Given the description of an element on the screen output the (x, y) to click on. 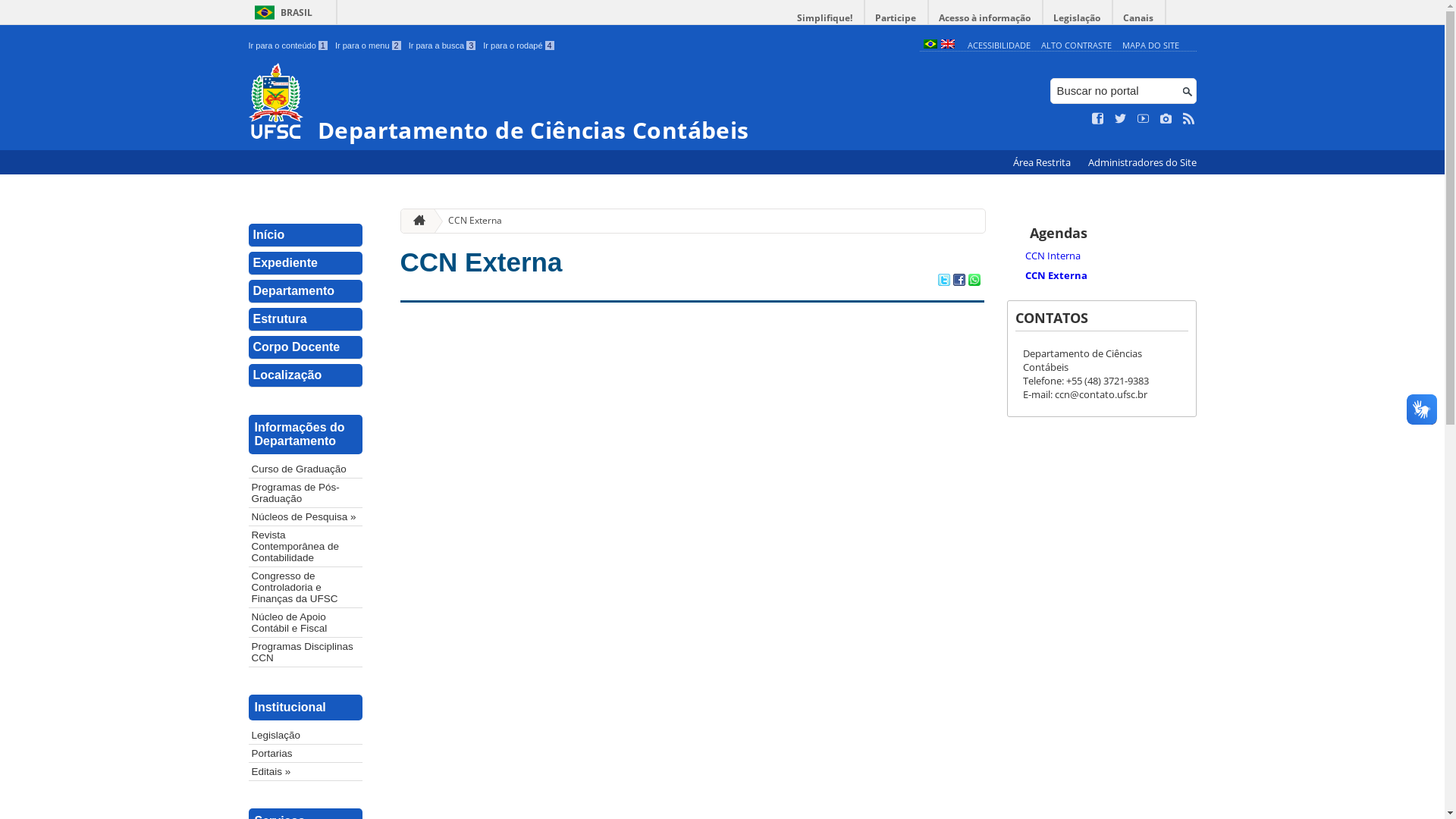
Simplifique! Element type: text (825, 18)
Corpo Docente Element type: text (305, 347)
Programas Disciplinas CCN Element type: text (305, 651)
Participe Element type: text (895, 18)
Estrutura Element type: text (305, 319)
Siga no Twitter Element type: hover (1120, 118)
ALTO CONTRASTE Element type: text (1076, 44)
Veja no Instagram Element type: hover (1166, 118)
Administradores do Site Element type: text (1141, 162)
CCN Externa Element type: text (468, 220)
CCN Externa Element type: text (1109, 275)
BRASIL Element type: text (280, 12)
Ir para o menu 2 Element type: text (368, 45)
Compartilhar no Twitter Element type: hover (943, 280)
ACESSIBILIDADE Element type: text (998, 44)
CCN Externa Element type: text (481, 261)
Curta no Facebook Element type: hover (1098, 118)
Ir para a busca 3 Element type: text (442, 45)
Portarias Element type: text (305, 753)
Compartilhar no Facebook Element type: hover (958, 280)
MAPA DO SITE Element type: text (1150, 44)
Compartilhar no WhatsApp Element type: hover (973, 280)
English (en) Element type: hover (946, 44)
CCN Interna Element type: text (1109, 255)
Expediente Element type: text (305, 263)
Canais Element type: text (1138, 18)
Departamento Element type: text (305, 291)
